Given the description of an element on the screen output the (x, y) to click on. 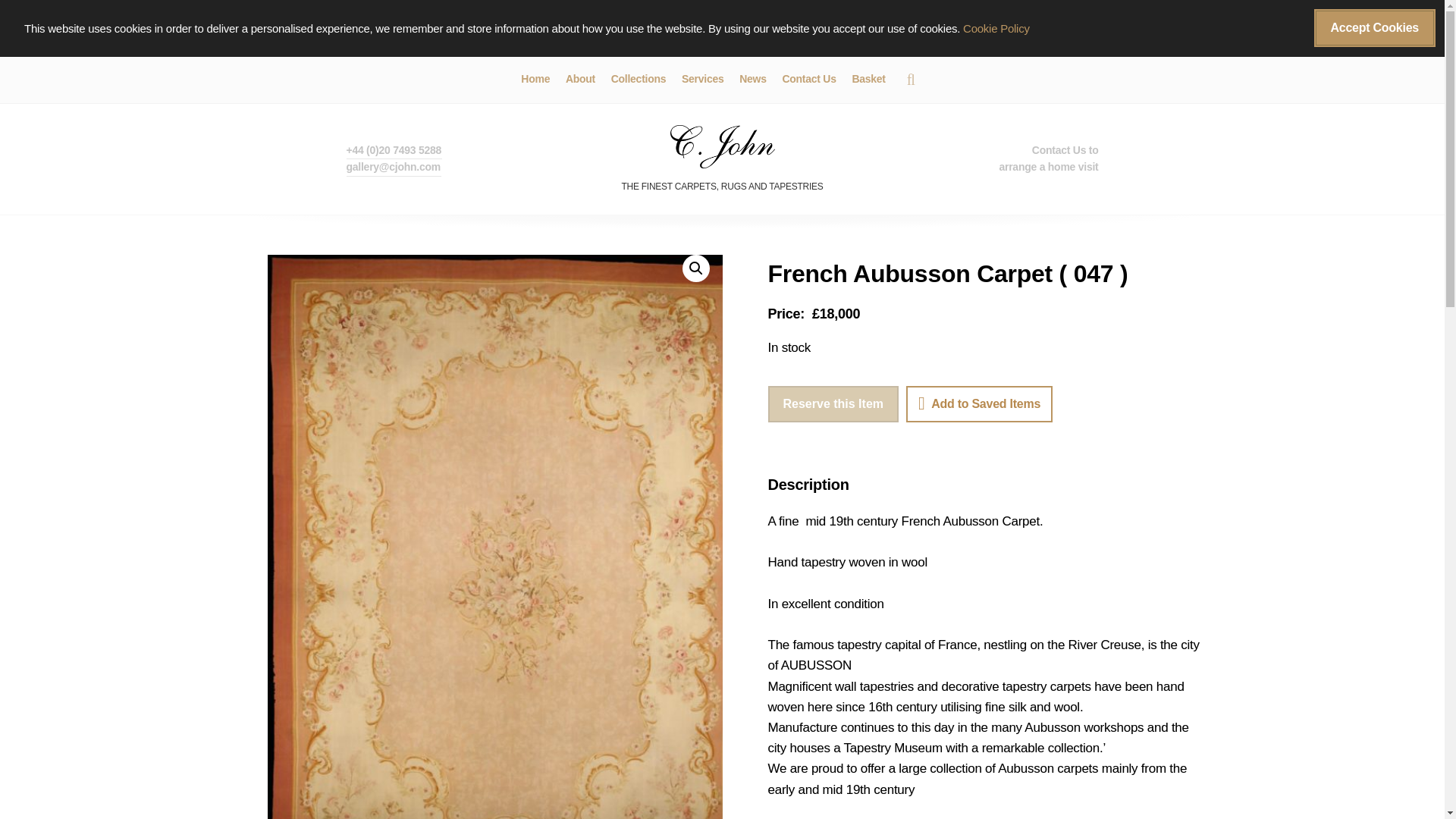
Services (702, 79)
Cookie Policy (995, 28)
Contact Us (808, 79)
Reserve this Item (832, 403)
News (752, 79)
Accept Cookies (1374, 27)
Basket (867, 79)
About (580, 79)
Collections (638, 79)
Home (534, 79)
